Given the description of an element on the screen output the (x, y) to click on. 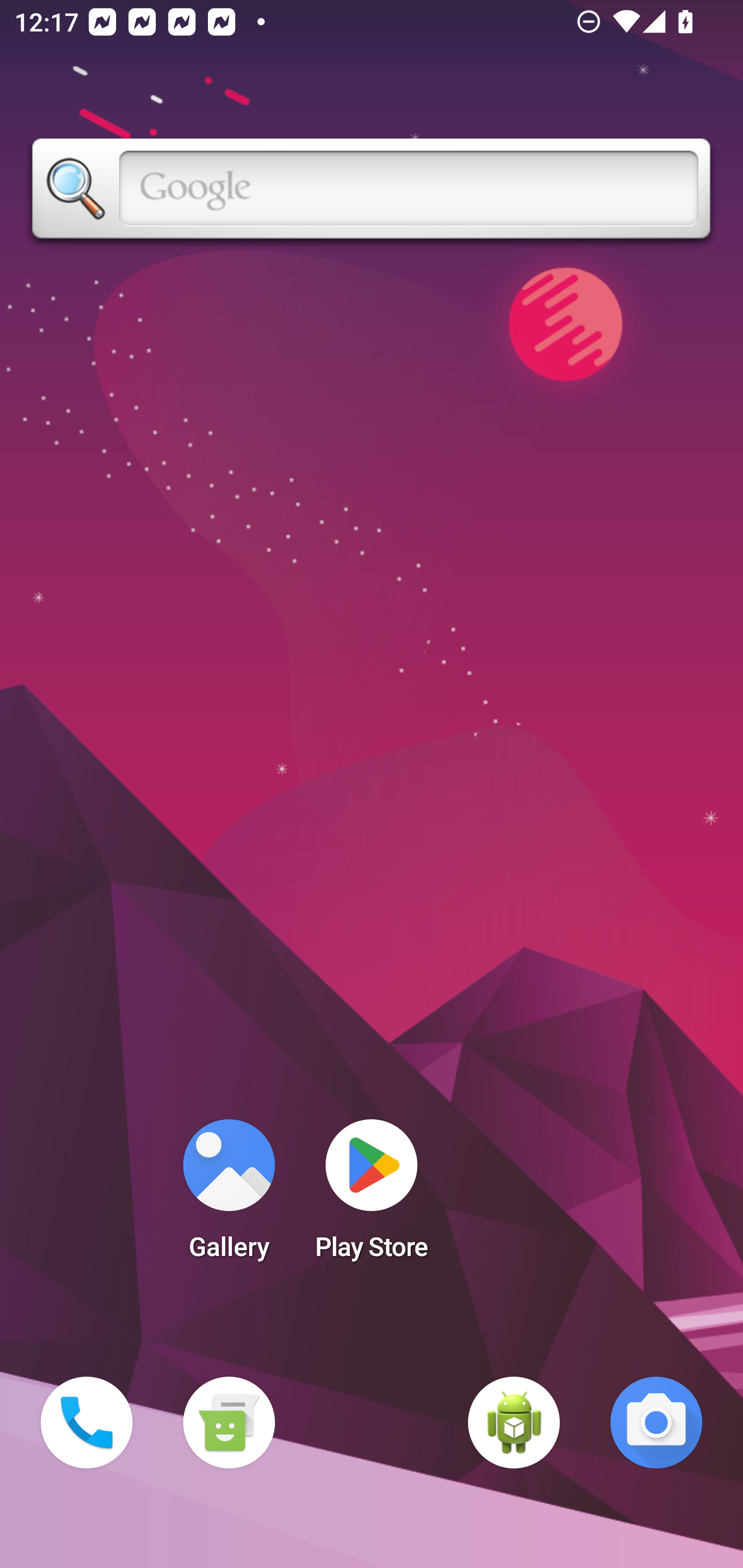
Gallery (228, 1195)
Play Store (371, 1195)
Phone (86, 1422)
Messaging (228, 1422)
WebView Browser Tester (513, 1422)
Camera (656, 1422)
